Given the description of an element on the screen output the (x, y) to click on. 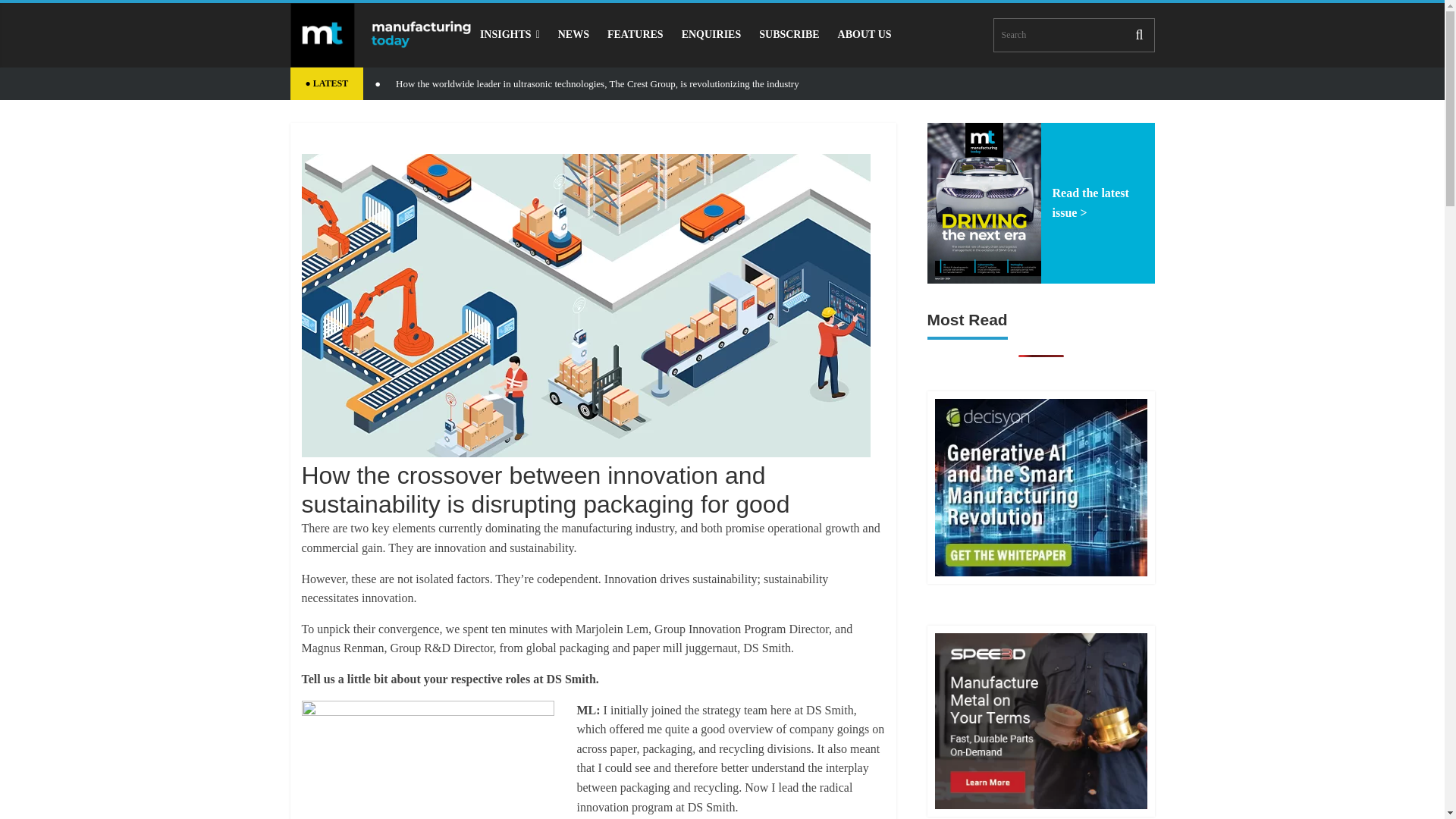
ENQUIRIES (711, 34)
SUBSCRIBE (788, 34)
NEWS (573, 34)
INSIGHTS (509, 34)
FEATURES (635, 34)
ABOUT US (864, 34)
Manufacturing Today (379, 35)
